Given the description of an element on the screen output the (x, y) to click on. 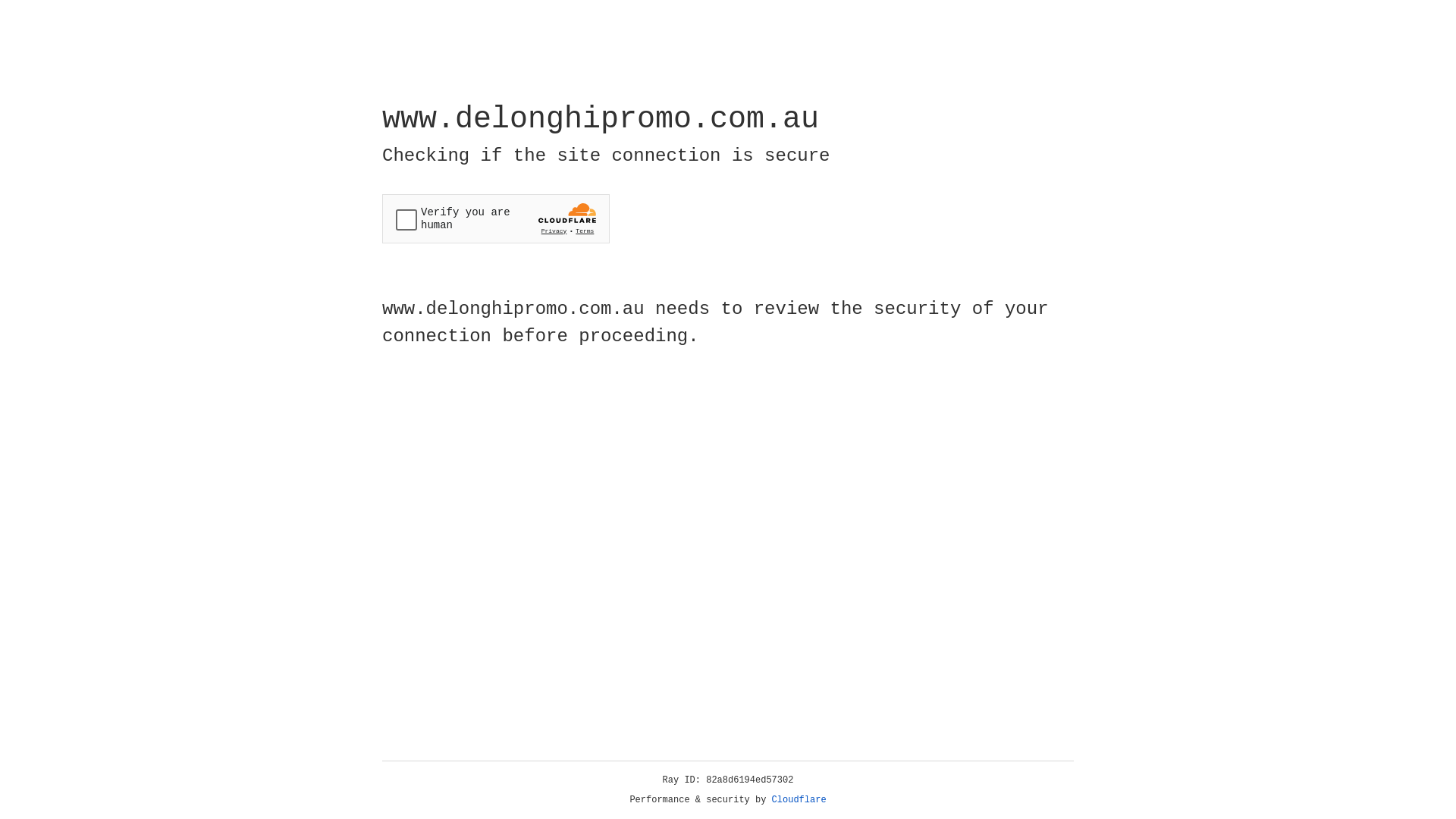
Cloudflare Element type: text (798, 799)
Widget containing a Cloudflare security challenge Element type: hover (495, 218)
